Given the description of an element on the screen output the (x, y) to click on. 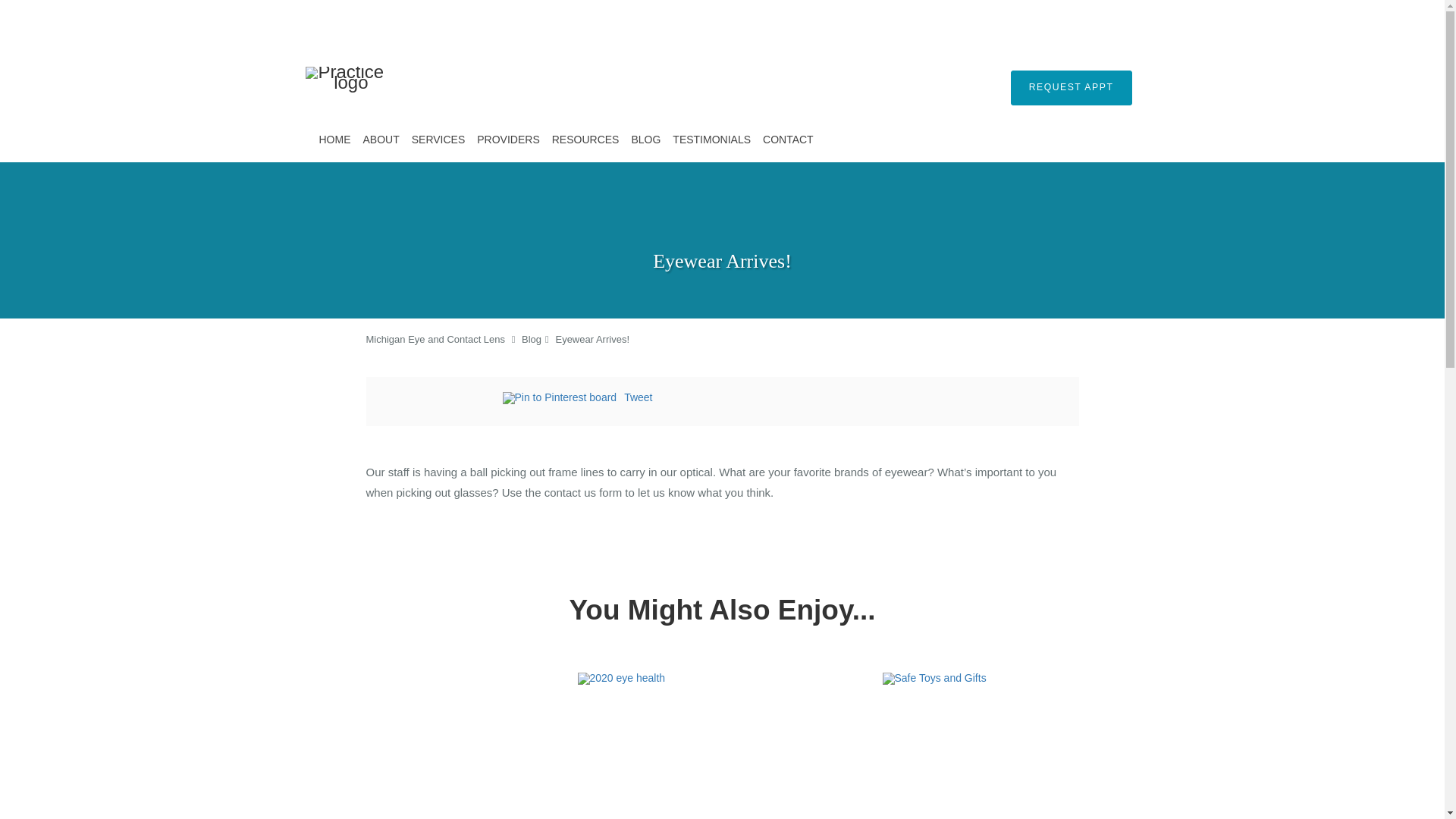
Blog (531, 338)
CONTACT (788, 139)
Michigan Eye and Contact Lens (435, 338)
HOME (334, 139)
Eyewear Arrives! (591, 338)
Tweet (638, 397)
SERVICES (438, 139)
Facebook social button (441, 399)
REQUEST APPT (1070, 87)
RESOURCES (586, 139)
